Given the description of an element on the screen output the (x, y) to click on. 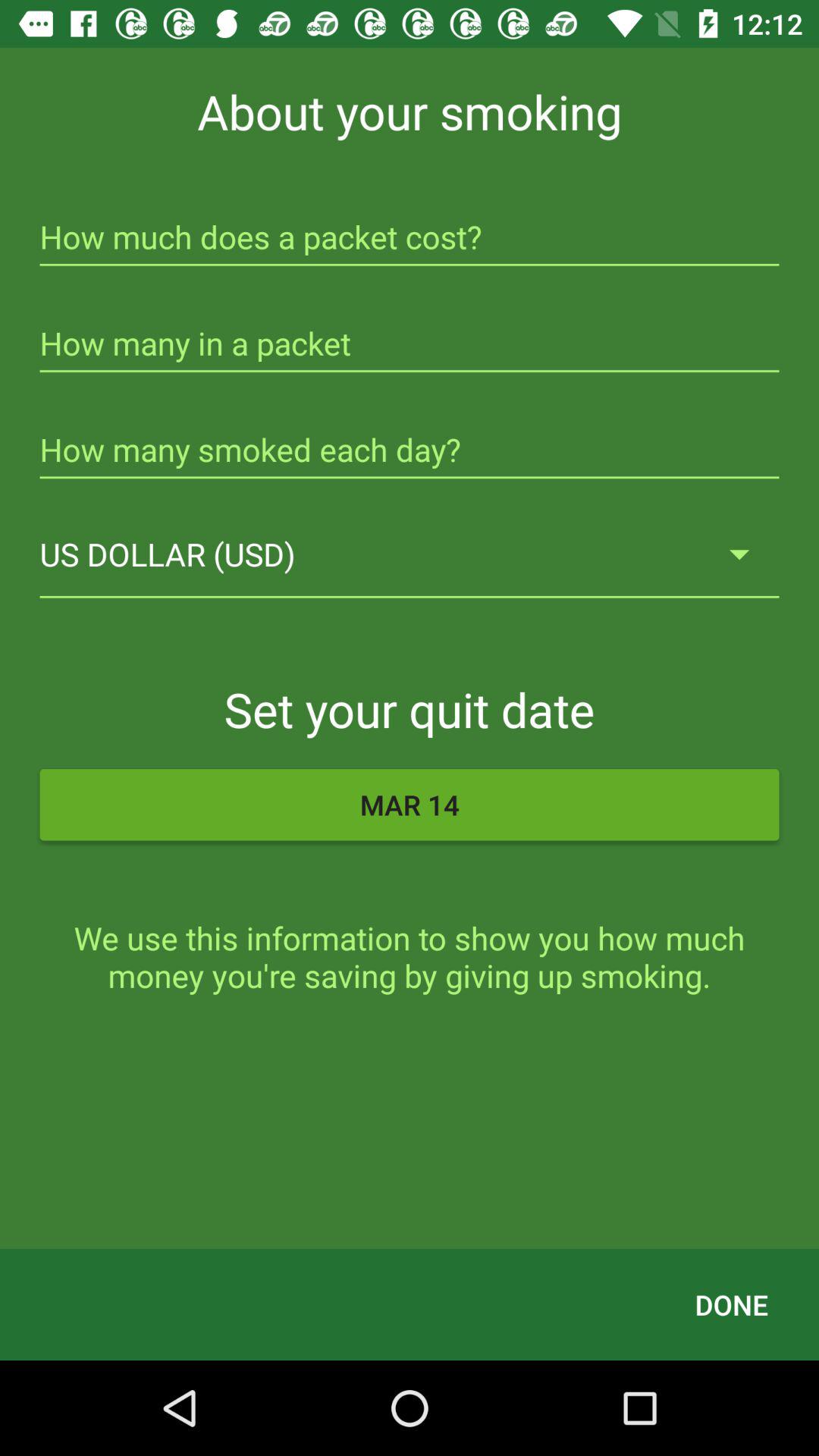
open the item below the we use this (731, 1304)
